Given the description of an element on the screen output the (x, y) to click on. 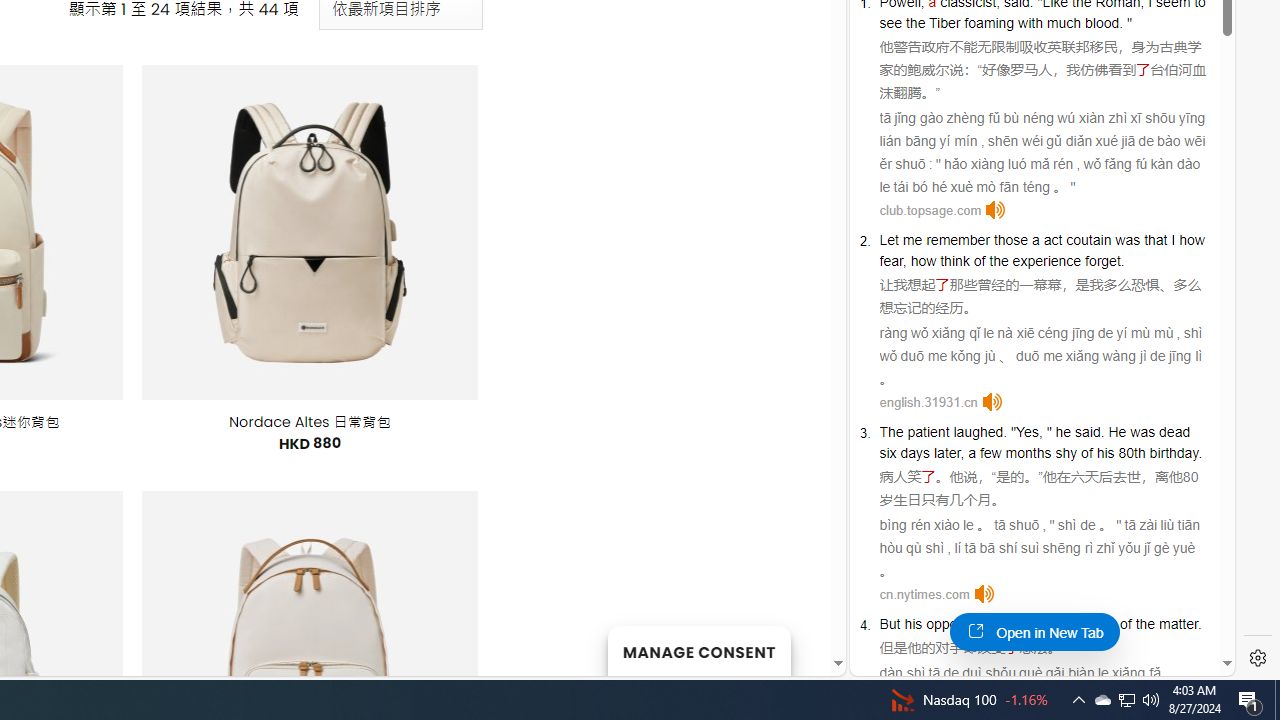
patient (928, 431)
opponent (955, 624)
Yes (1027, 431)
I (1173, 239)
. (1198, 624)
